Given the description of an element on the screen output the (x, y) to click on. 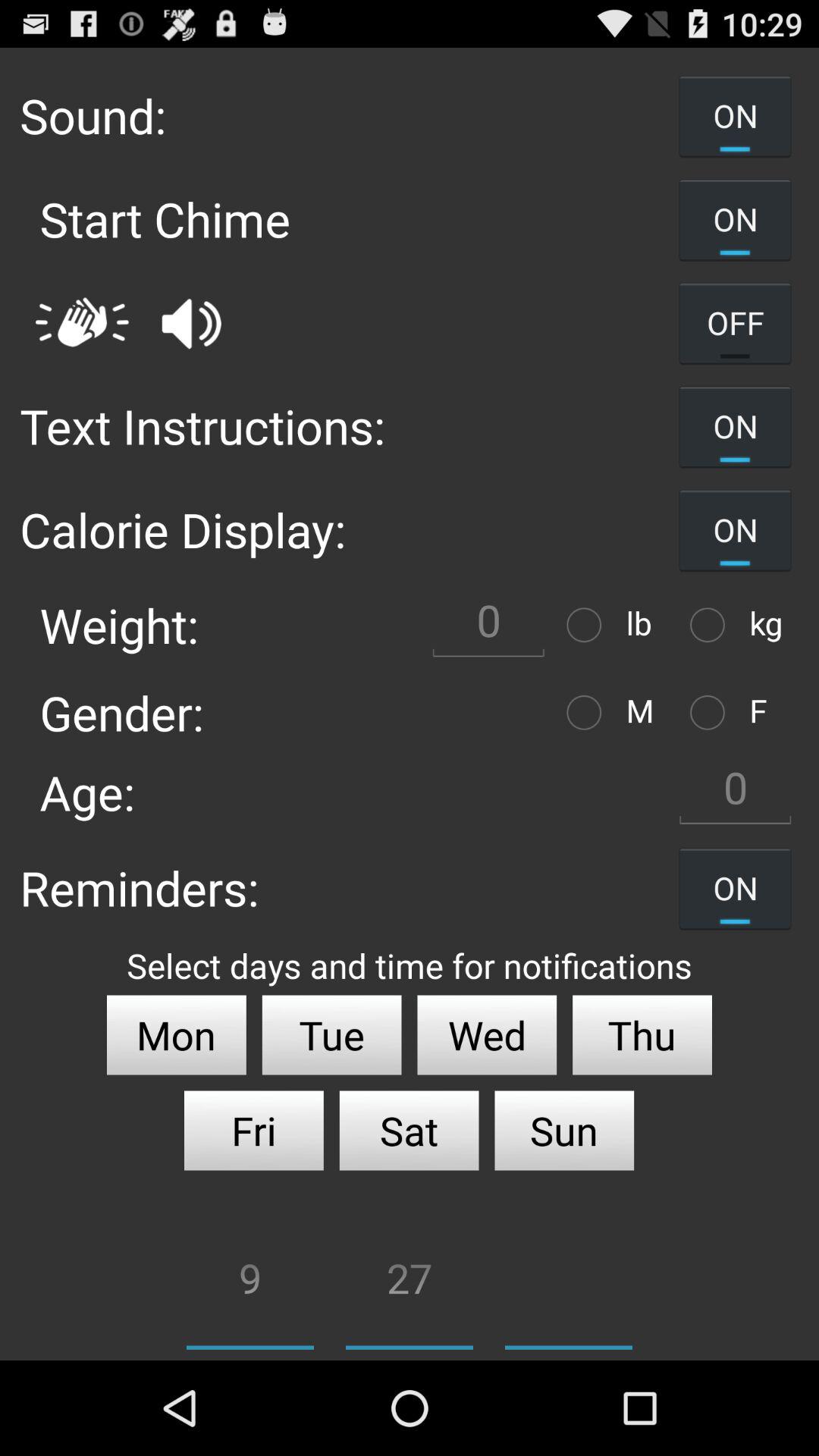
select kg as unit of measure (711, 624)
